Given the description of an element on the screen output the (x, y) to click on. 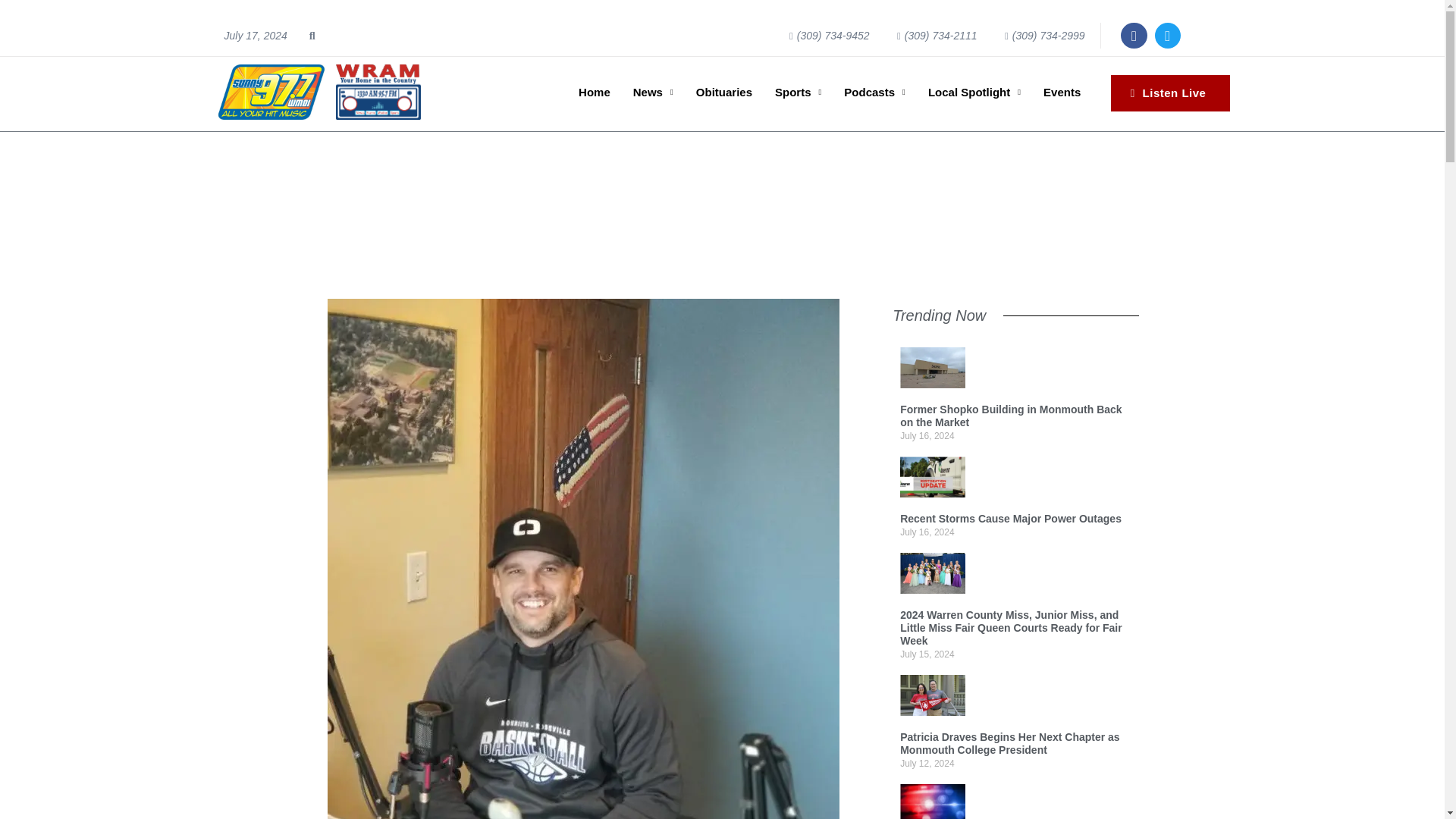
Sports (798, 92)
Obituaries (724, 92)
News (652, 92)
Events (1062, 92)
Local Spotlight (974, 92)
Podcasts (874, 92)
Home (594, 92)
